Given the description of an element on the screen output the (x, y) to click on. 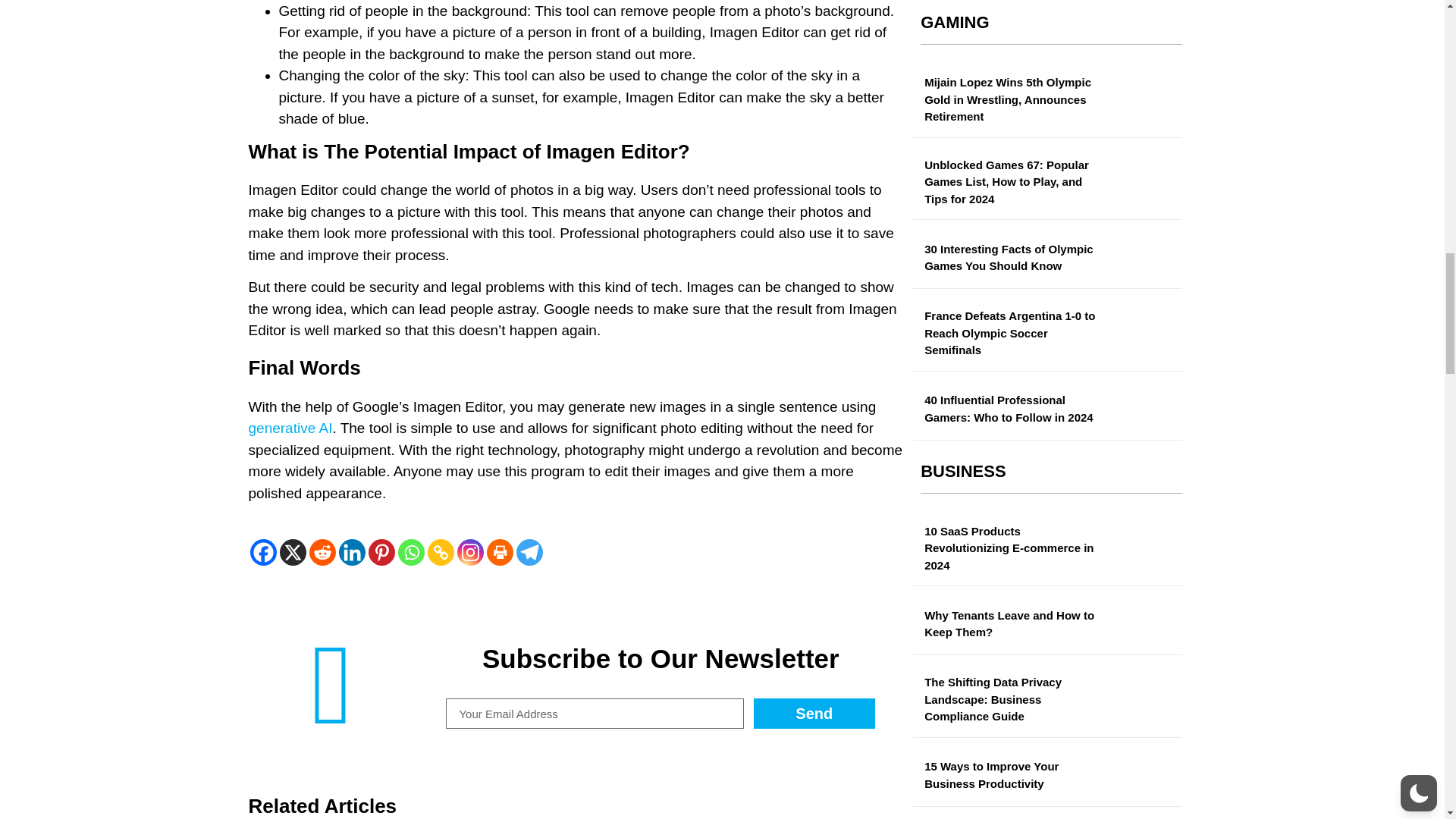
Reddit (322, 551)
Linkedin (351, 551)
Facebook (263, 551)
X (292, 551)
Pinterest (381, 551)
